Given the description of an element on the screen output the (x, y) to click on. 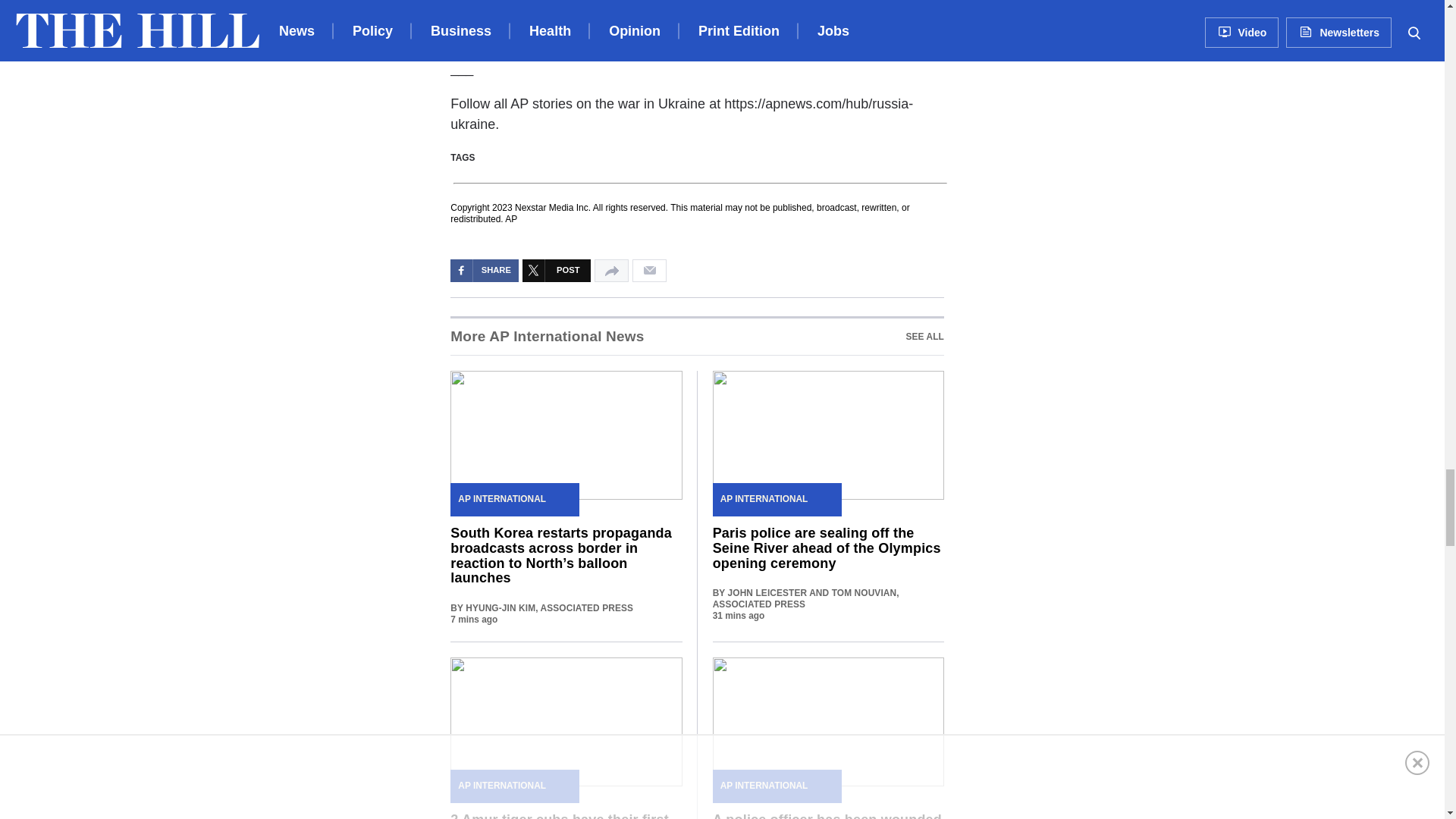
More AP International News (696, 335)
SEE ALL (546, 336)
SEE ALL (924, 336)
